Given the description of an element on the screen output the (x, y) to click on. 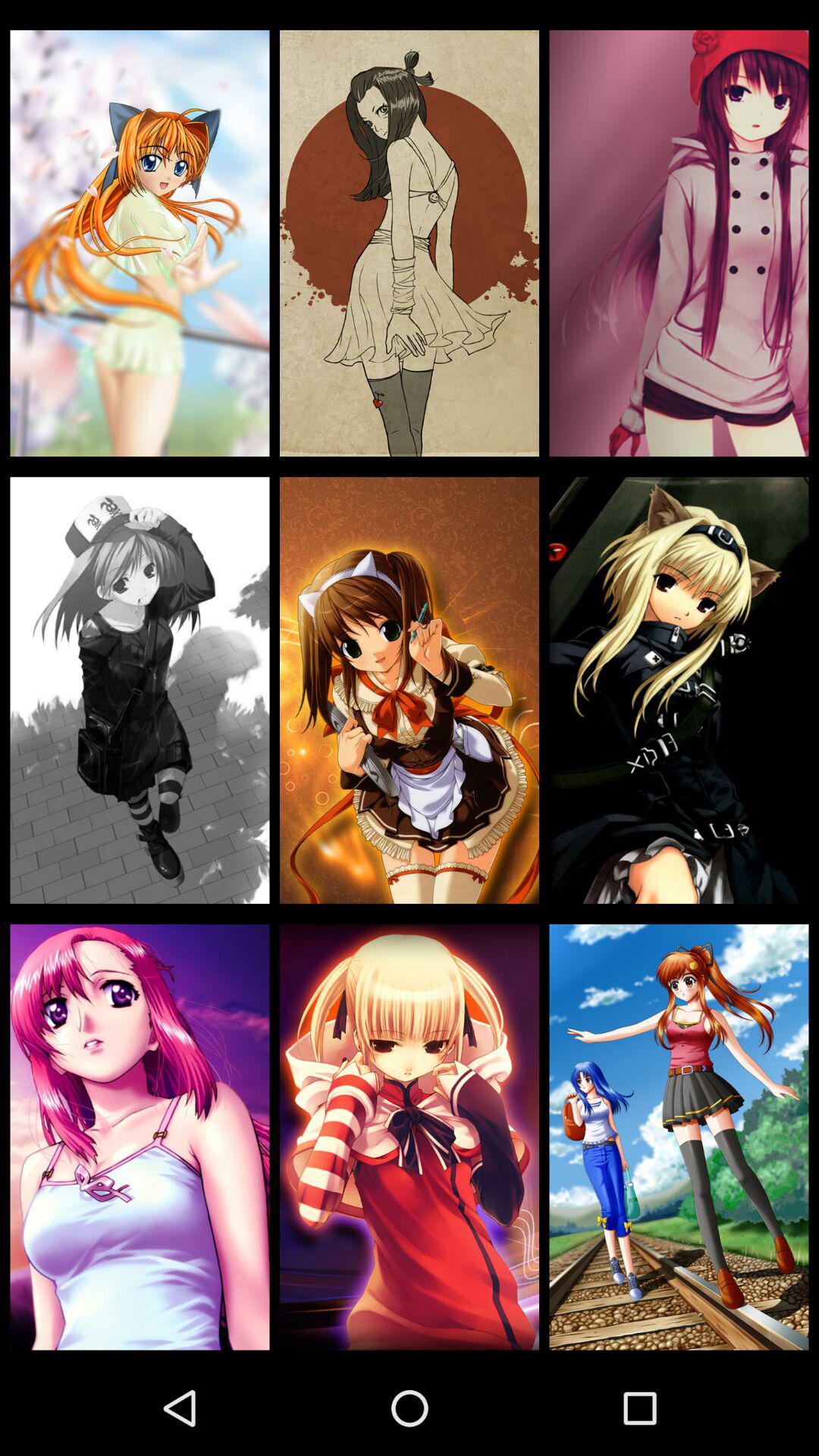
open item at the top (409, 243)
